Given the description of an element on the screen output the (x, y) to click on. 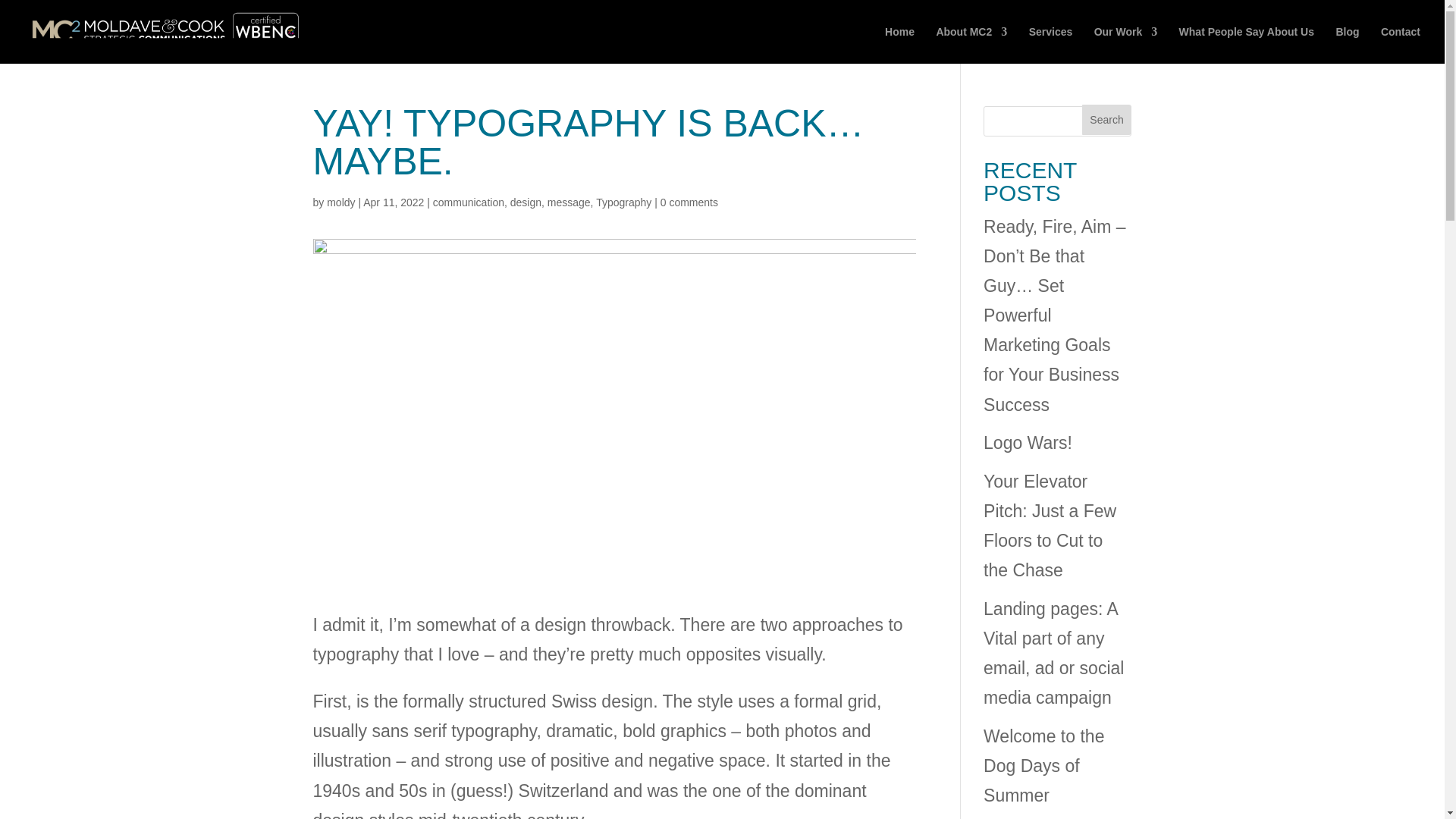
0 comments (689, 202)
About MC2 (971, 44)
Search (1106, 119)
Contact (1400, 44)
Our Work (1125, 44)
Welcome to the Dog Days of Summer (1043, 765)
design (526, 202)
Your Elevator Pitch: Just a Few Floors to Cut to the Chase (1050, 525)
Posts by moldy (340, 202)
Typography (622, 202)
